Given the description of an element on the screen output the (x, y) to click on. 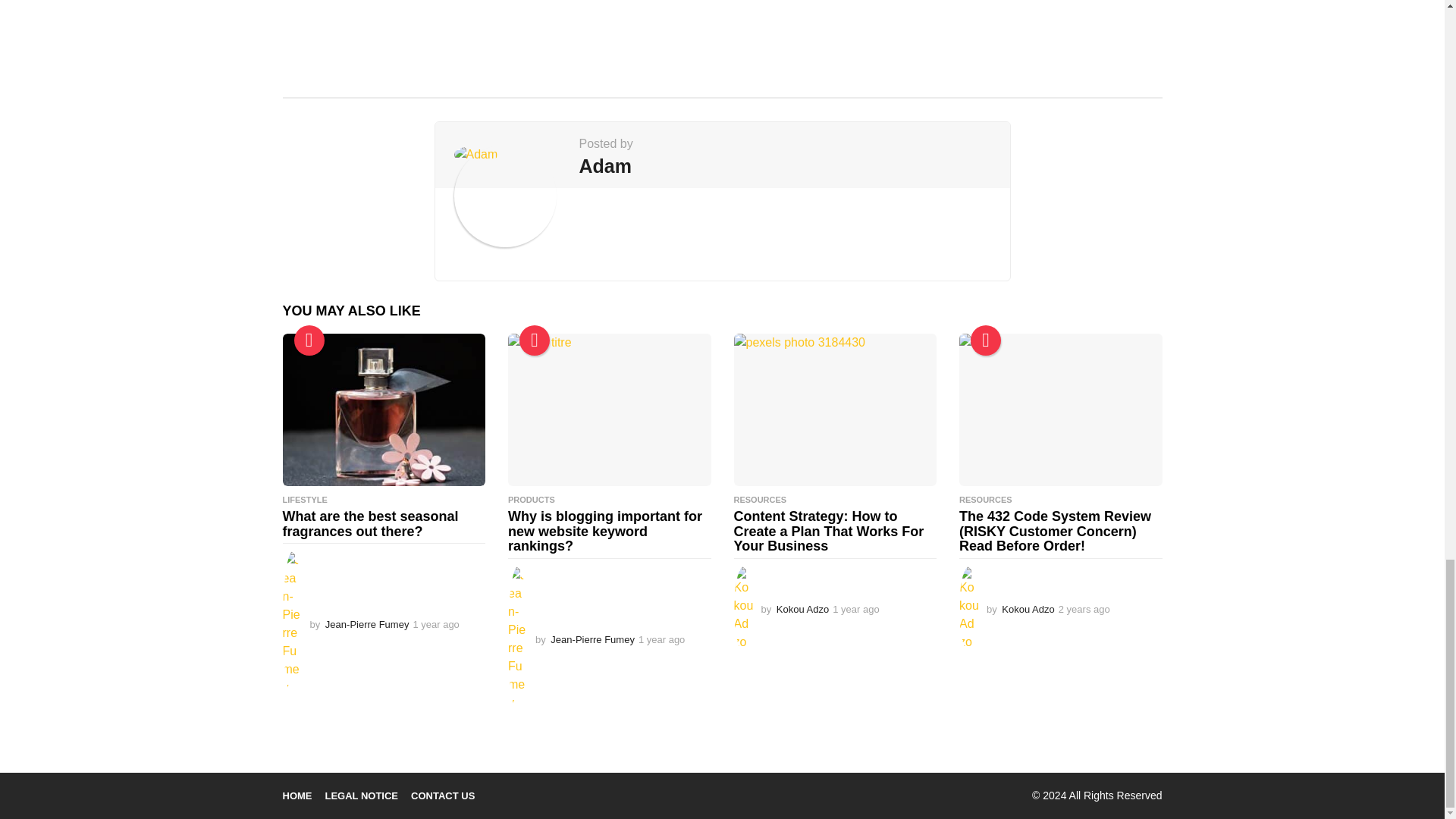
Popular (309, 340)
Popular (534, 340)
Adam (605, 165)
Hot (986, 340)
What are the best seasonal fragrances out there? (370, 523)
What are the best seasonal fragrances out there? (383, 409)
Jean-Pierre Fumey (366, 624)
Jean-Pierre Fumey (592, 639)
Why is blogging important for  new website keyword rankings? (607, 531)
PRODUCTS (531, 499)
LIFESTYLE (304, 499)
